Given the description of an element on the screen output the (x, y) to click on. 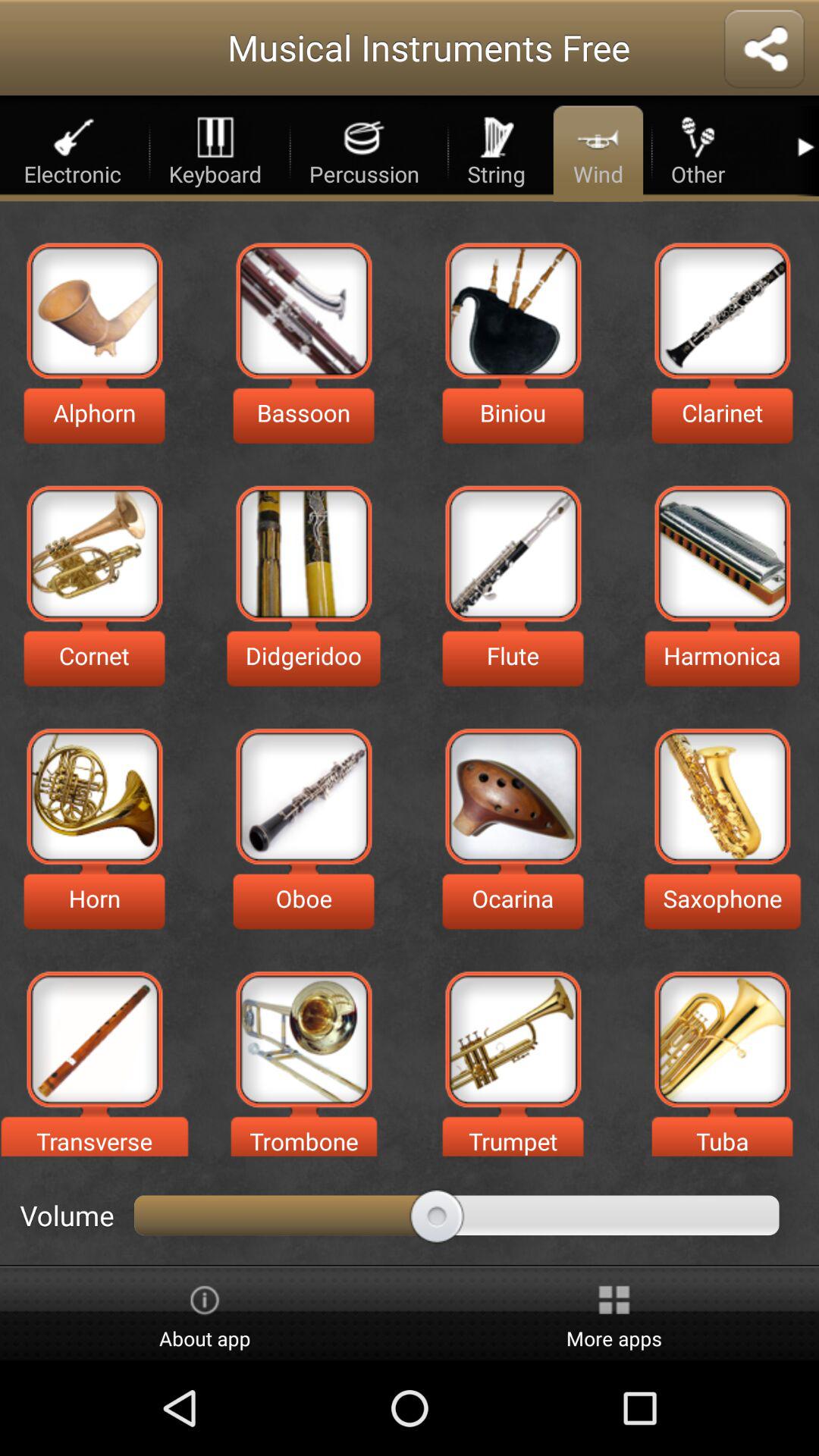
choose the selection (513, 553)
